Given the description of an element on the screen output the (x, y) to click on. 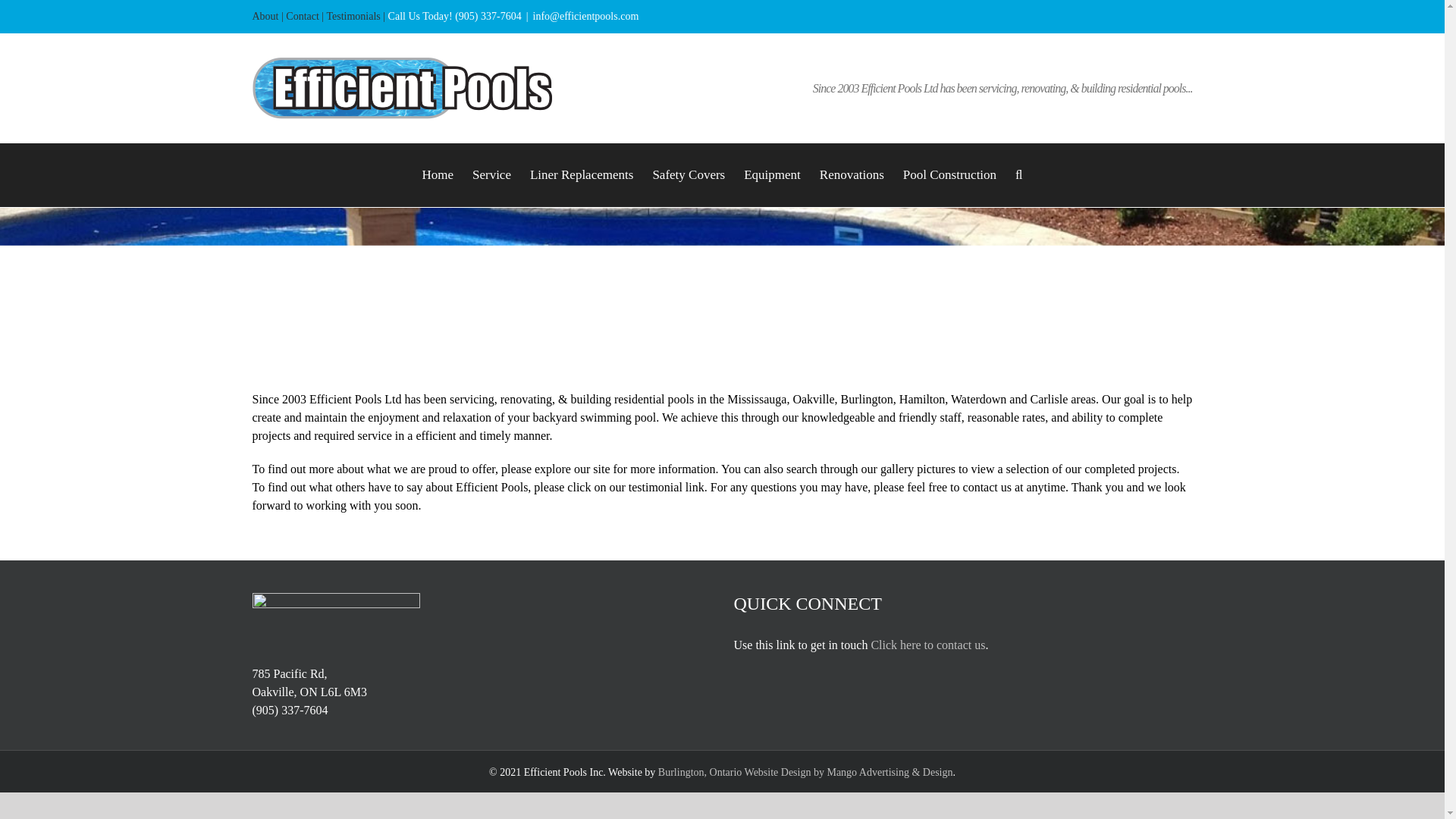
Contact (301, 16)
Safety Covers (688, 175)
Liner Replacements (581, 175)
Pool Construction (948, 175)
Equipment (772, 175)
About (264, 16)
Click here to contact us (927, 644)
Renovations (851, 175)
Testimonials (353, 16)
